Given the description of an element on the screen output the (x, y) to click on. 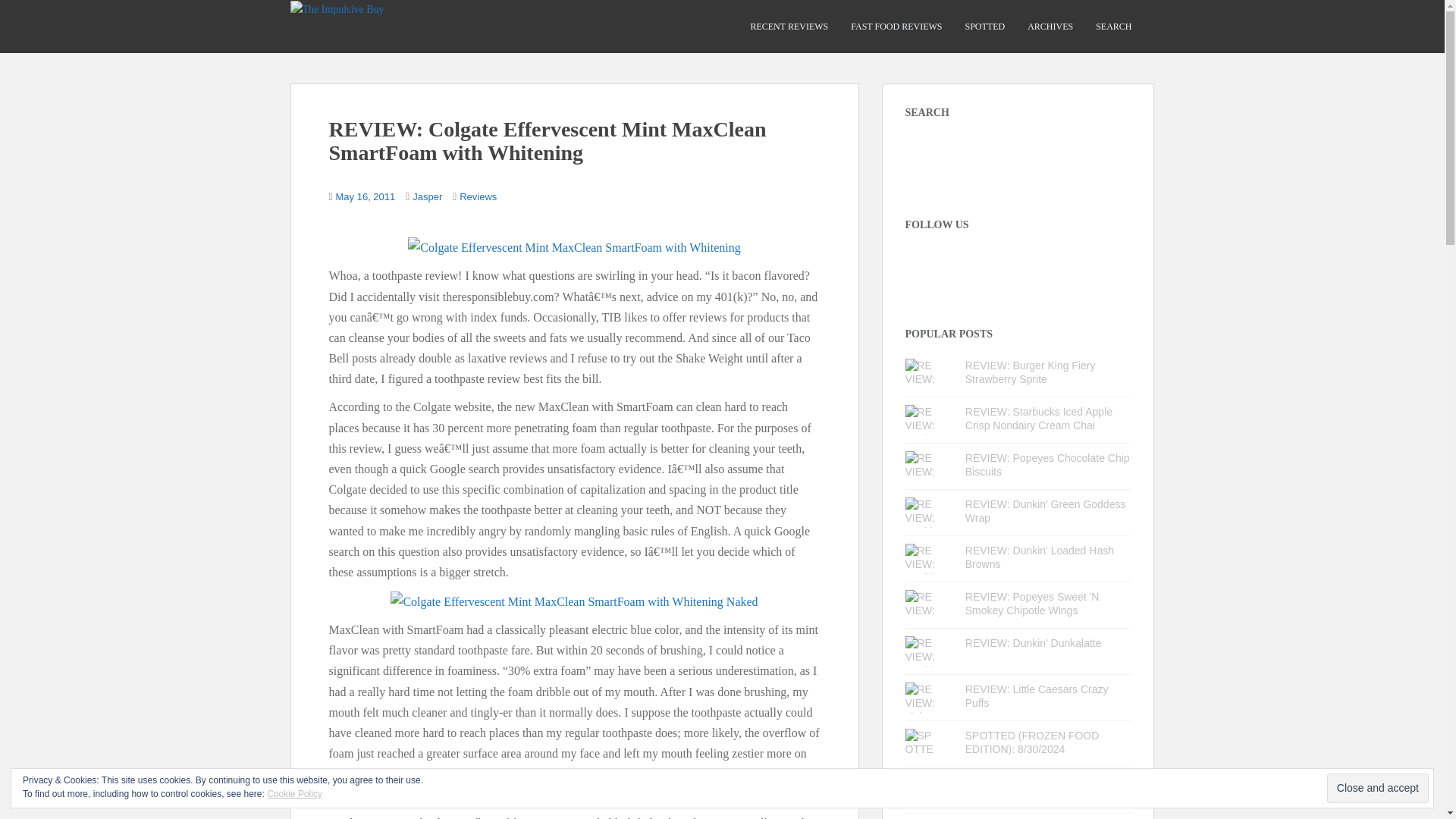
Close and accept (1377, 788)
FAST FOOD REVIEWS (896, 26)
RSS Feed (1053, 262)
Jasper (427, 196)
Pinterest (998, 262)
YouTube (1025, 262)
Instagram (917, 262)
SPOTTED (983, 26)
ARCHIVES (1050, 26)
REVIEW: Starbucks Iced Apple Crisp Nondairy Cream Chai (1038, 418)
